Given the description of an element on the screen output the (x, y) to click on. 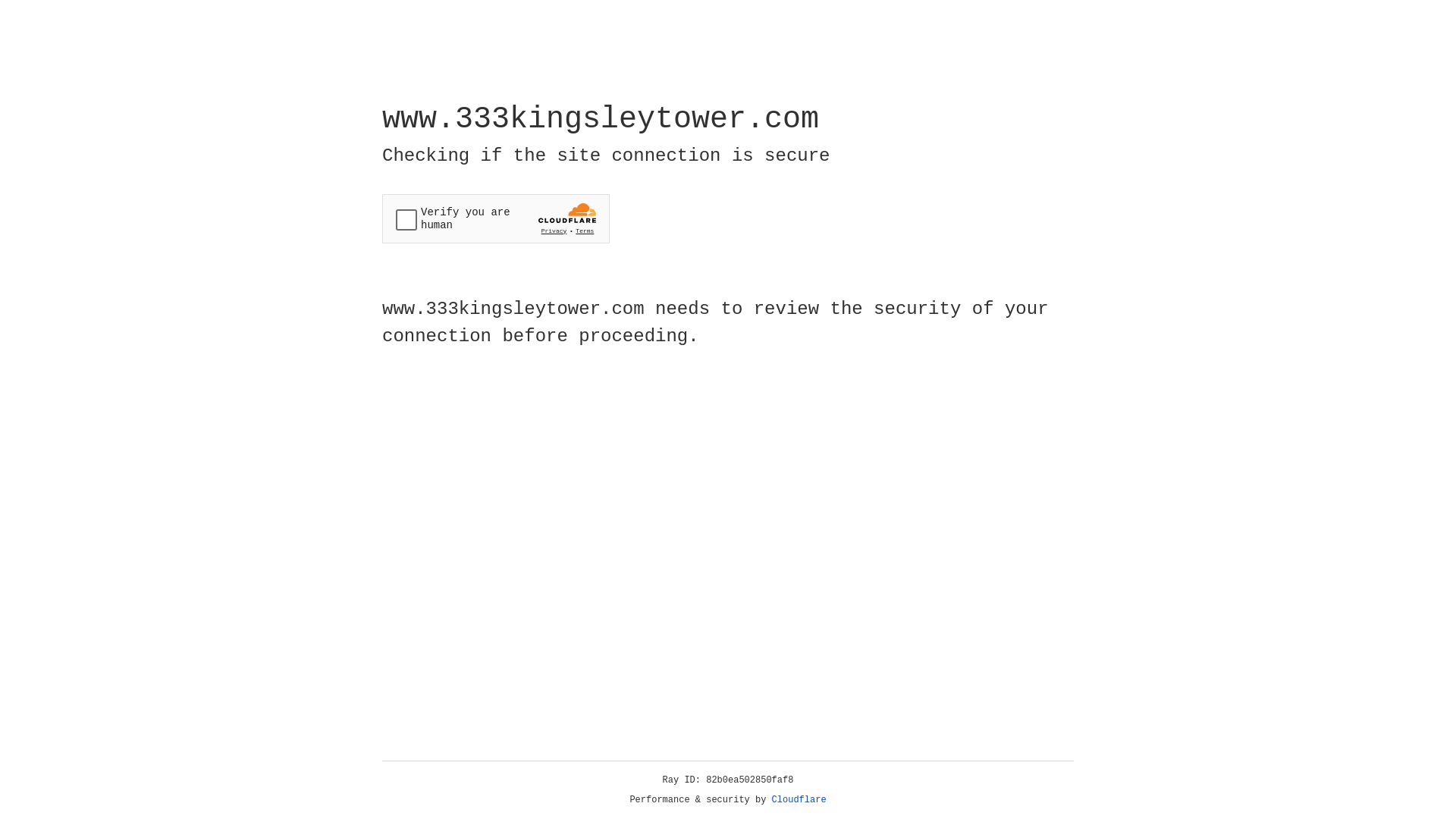
Widget containing a Cloudflare security challenge Element type: hover (495, 218)
Cloudflare Element type: text (798, 799)
